Given the description of an element on the screen output the (x, y) to click on. 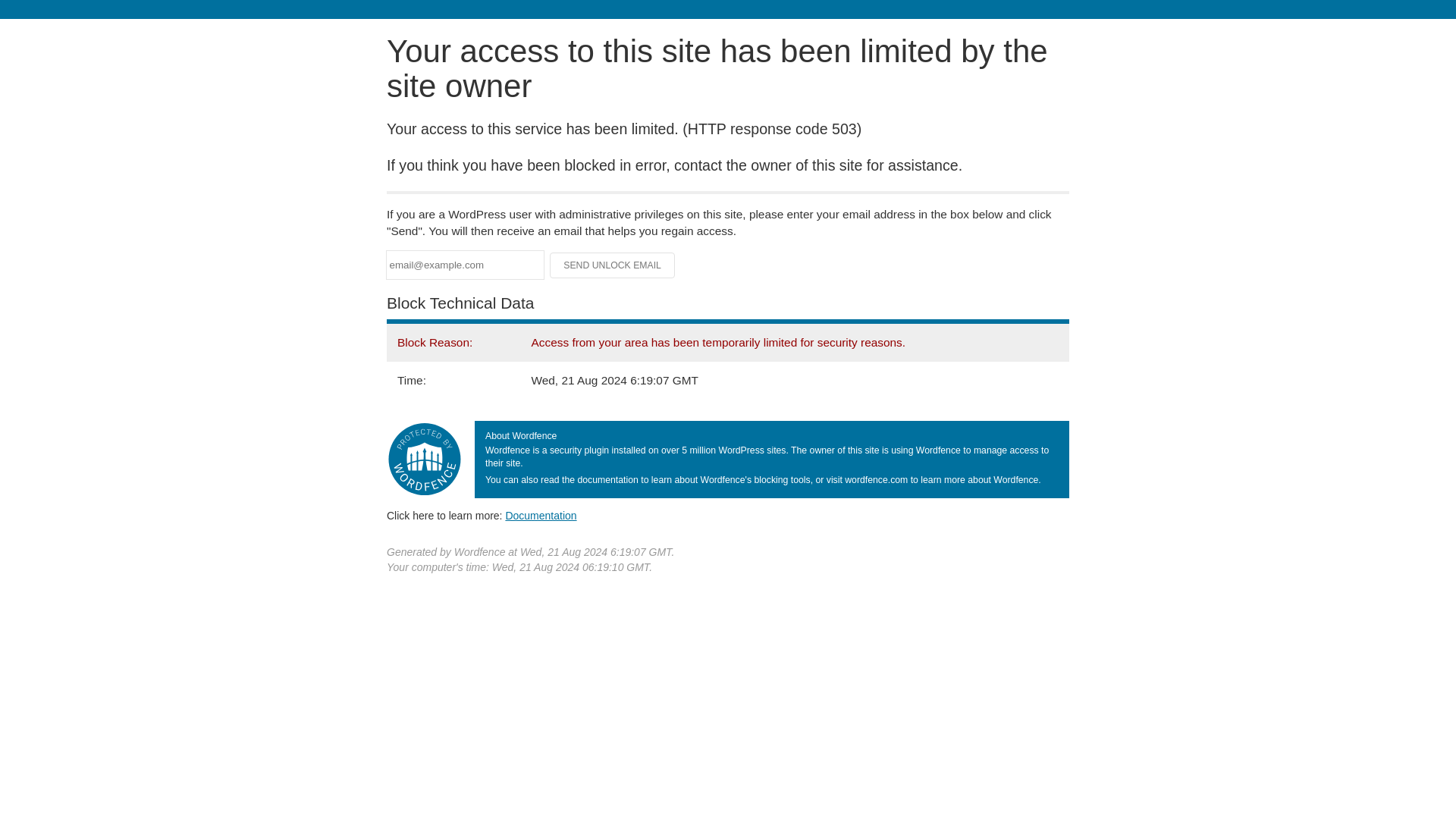
Send Unlock Email (612, 265)
Send Unlock Email (612, 265)
Documentation (540, 515)
